Given the description of an element on the screen output the (x, y) to click on. 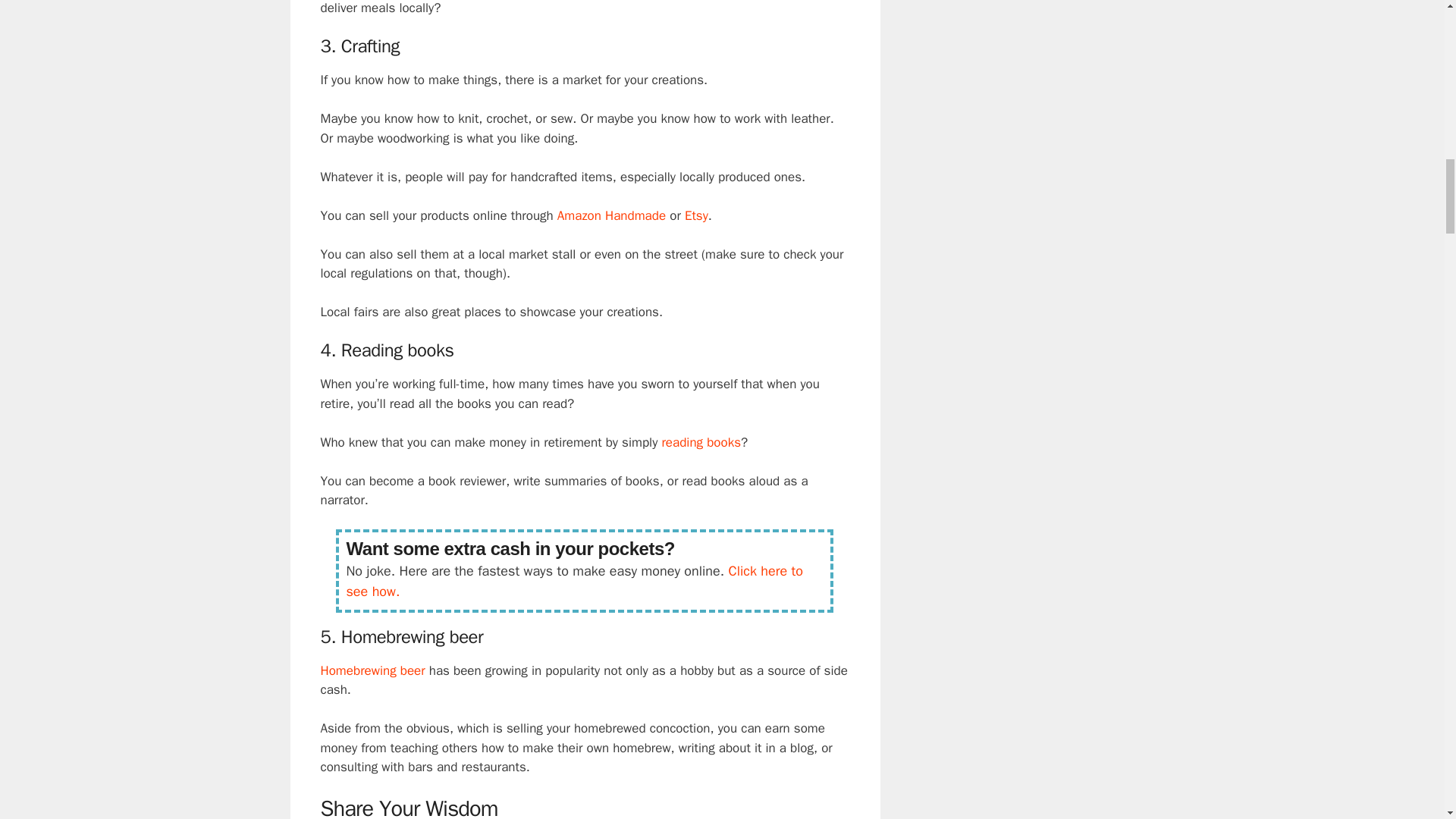
Homebrewing beer (372, 670)
reading books (701, 442)
Etsy (695, 215)
Amazon Handmade (611, 215)
Click here to see how. (574, 580)
